Given the description of an element on the screen output the (x, y) to click on. 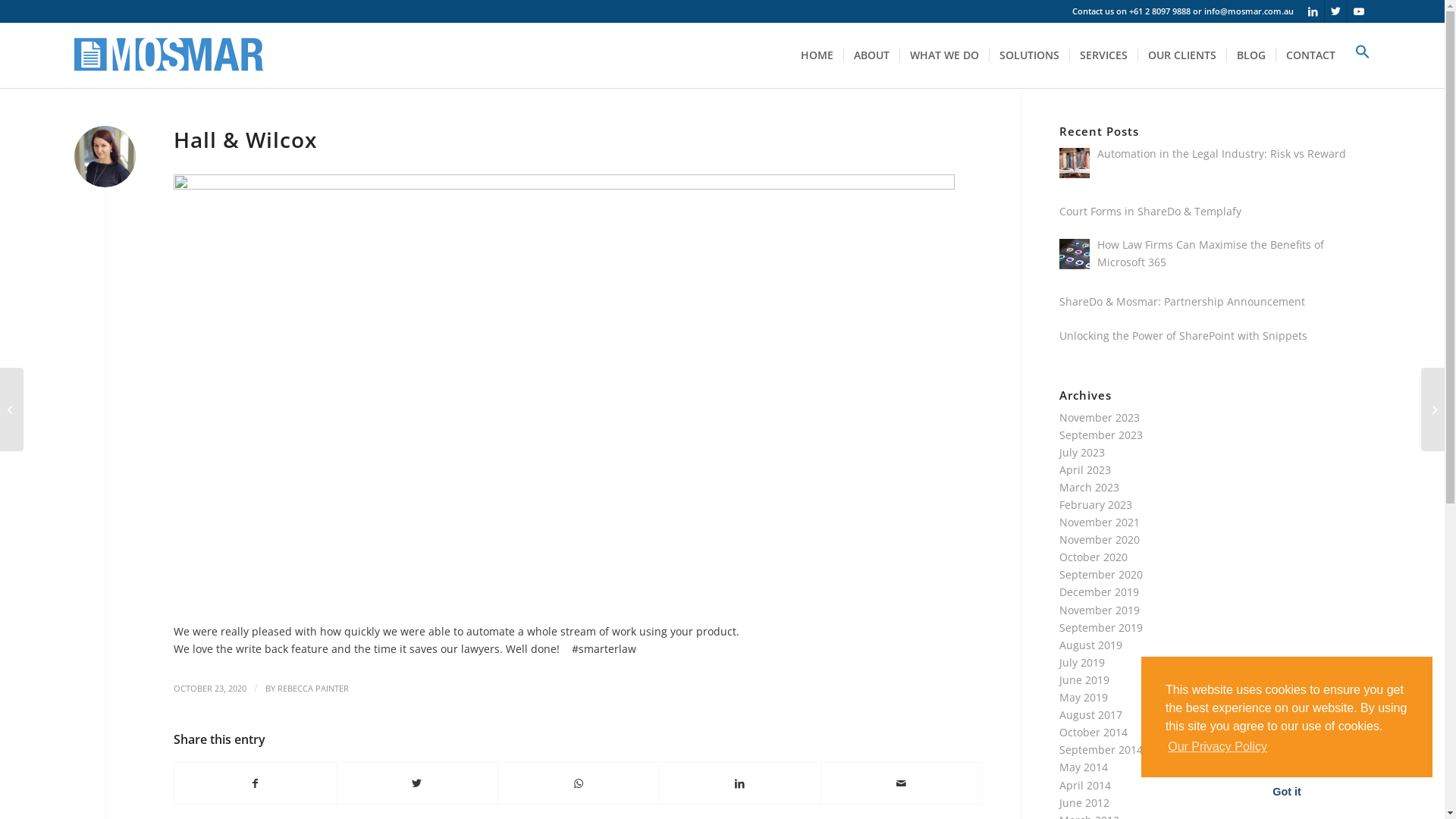
April 2023 Element type: text (1084, 469)
How Law Firms Can Maximise the Benefits of Microsoft 365 Element type: text (1210, 253)
ABOUT Element type: text (871, 54)
October 2014 Element type: text (1093, 731)
September 2014 Element type: text (1100, 749)
July 2023 Element type: text (1081, 452)
LinkedIn Element type: hover (1313, 11)
March 2023 Element type: text (1089, 487)
November 2019 Element type: text (1099, 609)
November 2020 Element type: text (1099, 539)
September 2019 Element type: text (1100, 627)
June 2019 Element type: text (1084, 679)
May 2019 Element type: text (1083, 697)
Automation in the Legal Industry: Risk vs Reward Element type: text (1221, 153)
SOLUTIONS Element type: text (1028, 54)
Hall & Wilcox Element type: text (244, 139)
November 2023 Element type: text (1099, 417)
info@mosmar.com.au Element type: text (1248, 10)
September 2020 Element type: text (1100, 574)
Our Privacy Policy Element type: text (1217, 746)
CONTACT Element type: text (1310, 54)
OUR CLIENTS Element type: text (1181, 54)
Unlocking the Power of SharePoint with Snippets Element type: text (1183, 334)
BLOG Element type: text (1250, 54)
April 2014 Element type: text (1084, 785)
ShareDo & Mosmar: Partnership Announcement Element type: text (1182, 301)
Court Forms in ShareDo & Templafy Element type: text (1150, 210)
Got it Element type: text (1286, 791)
HOME Element type: text (816, 54)
November 2021 Element type: text (1099, 521)
+61 2 8097 9888 Element type: text (1159, 10)
REBECCA PAINTER Element type: text (312, 687)
May 2014 Element type: text (1083, 766)
December 2019 Element type: text (1099, 591)
Youtube Element type: hover (1358, 11)
logo-smaller Element type: hover (168, 54)
Twitter Element type: hover (1335, 11)
WHAT WE DO Element type: text (943, 54)
July 2019 Element type: text (1081, 662)
August 2017 Element type: text (1090, 714)
SERVICES Element type: text (1103, 54)
October 2020 Element type: text (1093, 556)
June 2012 Element type: text (1084, 802)
August 2019 Element type: text (1090, 644)
September 2023 Element type: text (1100, 434)
February 2023 Element type: text (1095, 504)
